Given the description of an element on the screen output the (x, y) to click on. 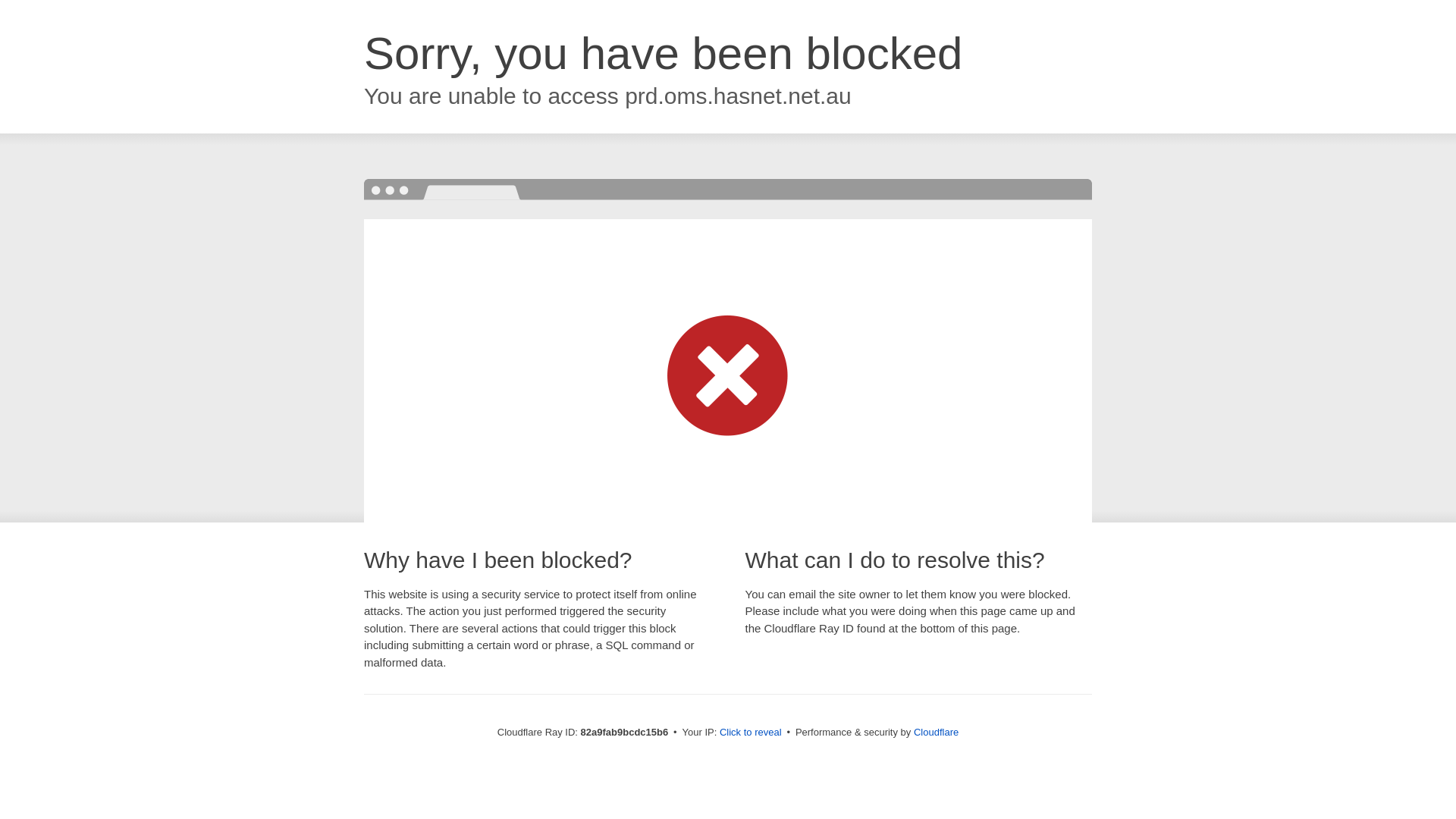
Cloudflare Element type: text (935, 731)
Click to reveal Element type: text (750, 732)
